Given the description of an element on the screen output the (x, y) to click on. 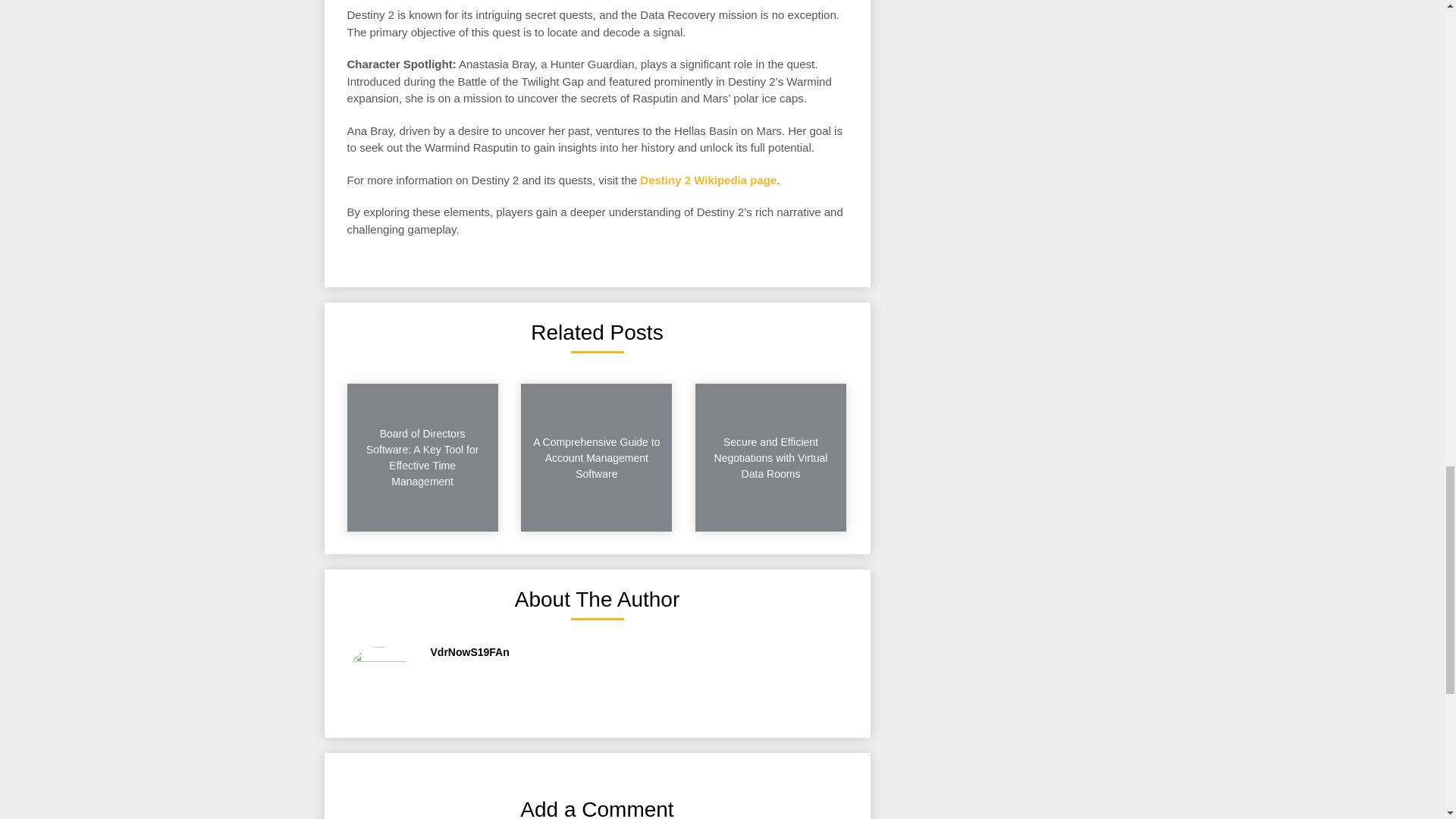
Destiny 2 Wikipedia page (708, 179)
